Given the description of an element on the screen output the (x, y) to click on. 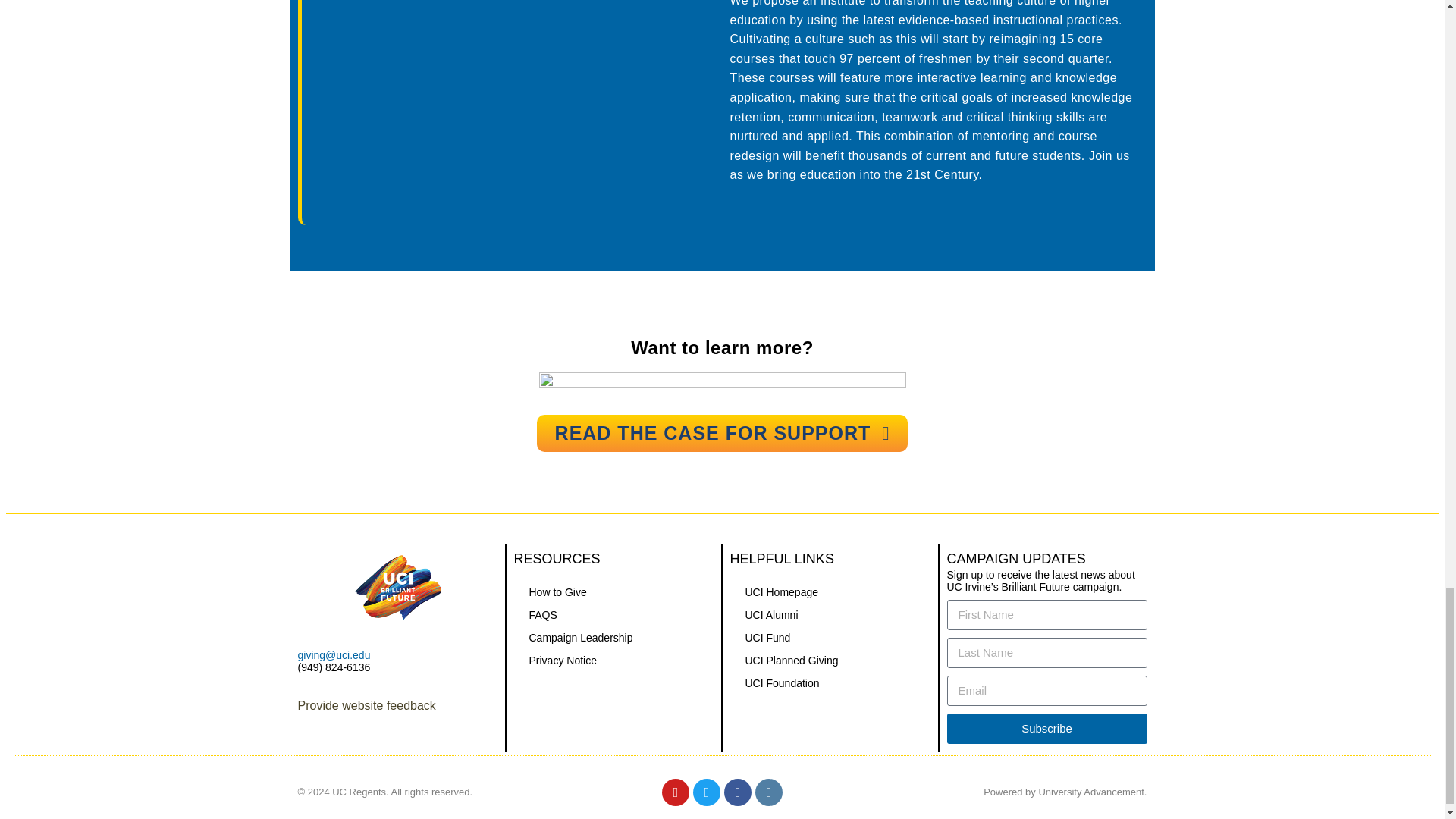
READ THE CASE FOR SUPPORT (722, 433)
UCI Alumni (829, 614)
UCI Planned Giving (829, 660)
FAQS (613, 614)
UCI Homepage (829, 591)
How to Give (613, 591)
UCI Foundation (829, 682)
Privacy Notice (613, 660)
UCI Fund (829, 637)
Provide website feedback (366, 705)
